Given the description of an element on the screen output the (x, y) to click on. 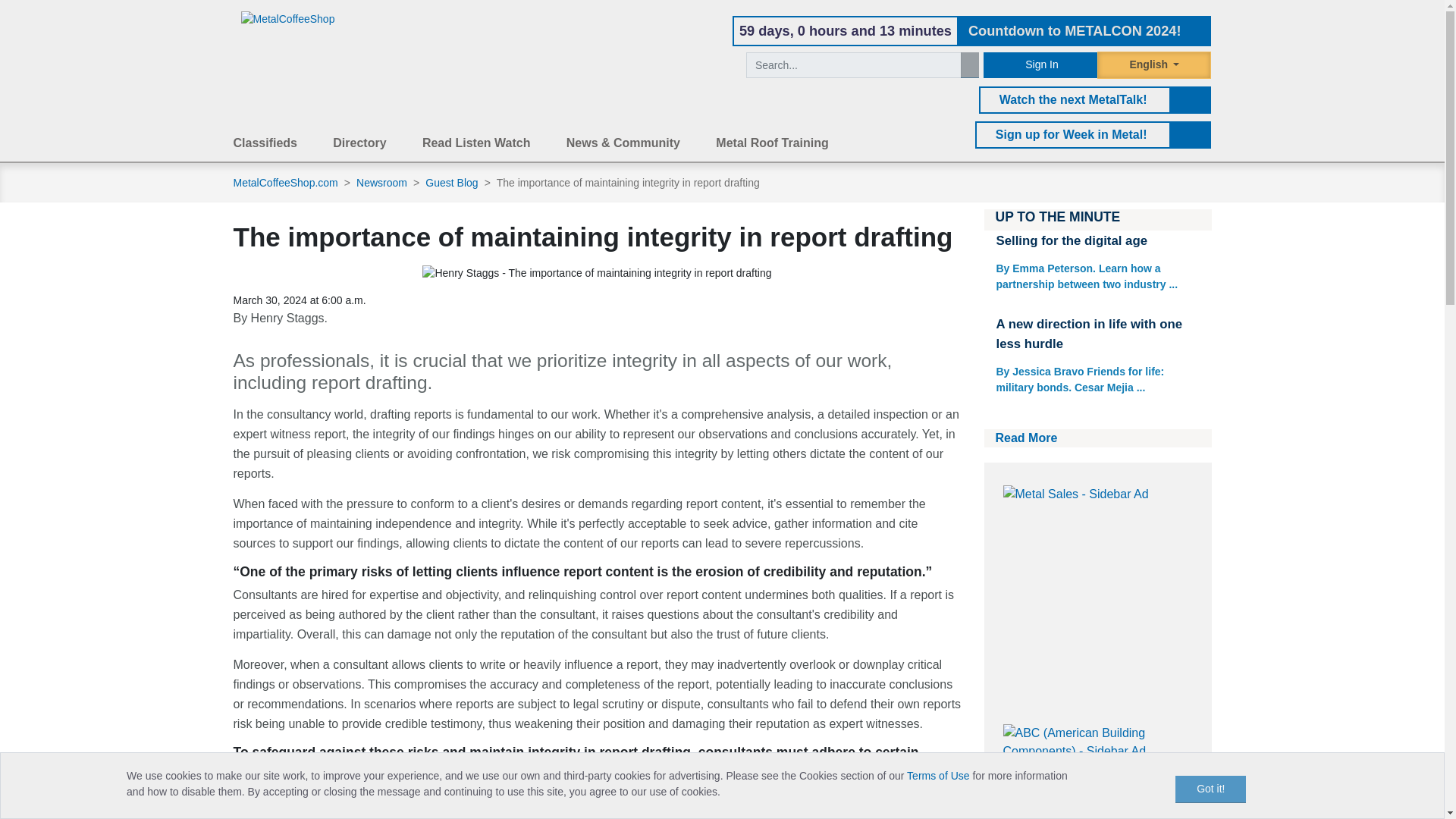
MetalCoffeeShop (287, 18)
MetalCoffeeShop (287, 19)
Guest Blog (452, 182)
Newsroom (383, 182)
